Given the description of an element on the screen output the (x, y) to click on. 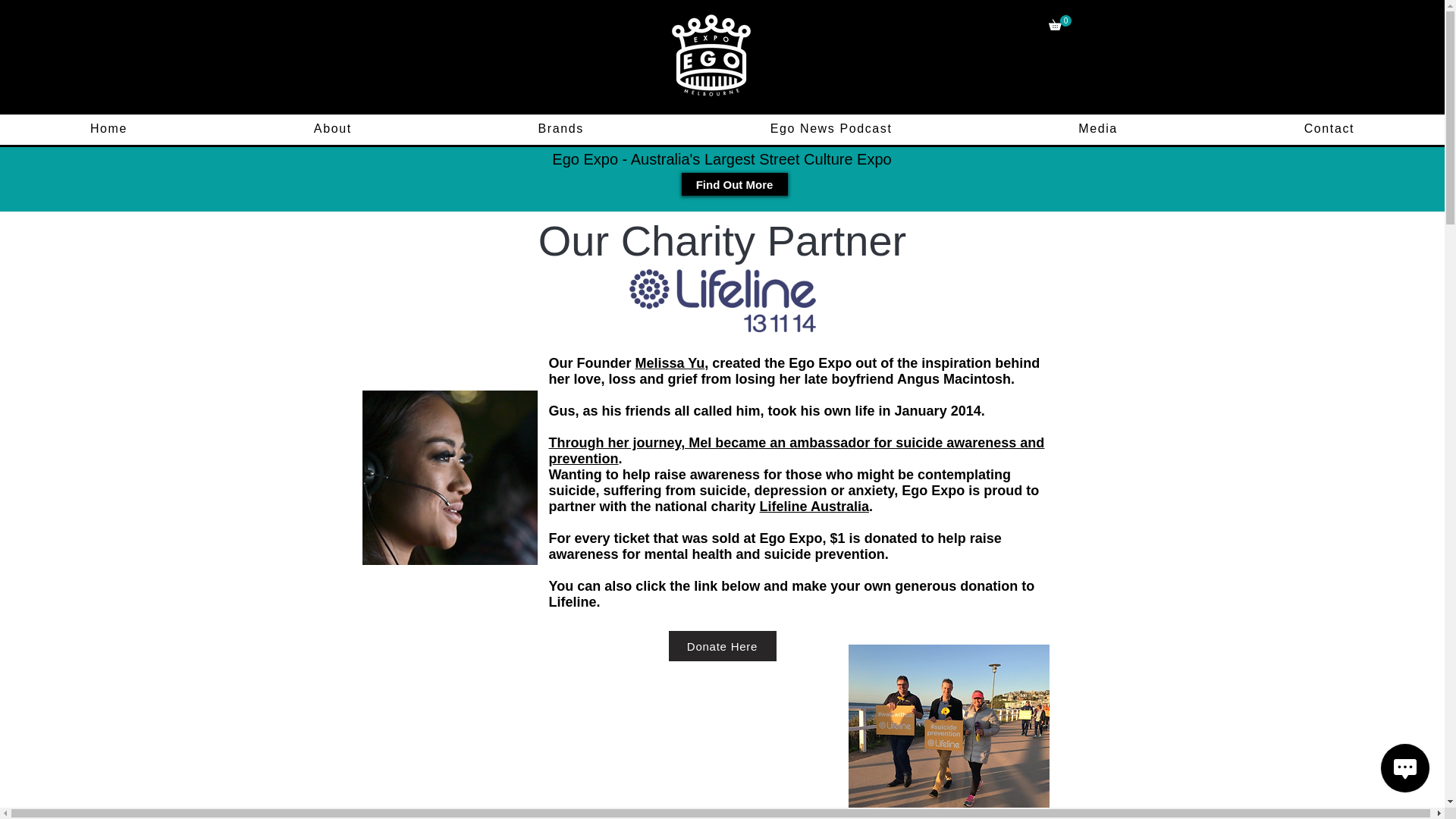
0 (1059, 22)
0 (1059, 22)
About (333, 129)
Home (108, 129)
Brands (561, 129)
Wix Chat (1408, 771)
